Given the description of an element on the screen output the (x, y) to click on. 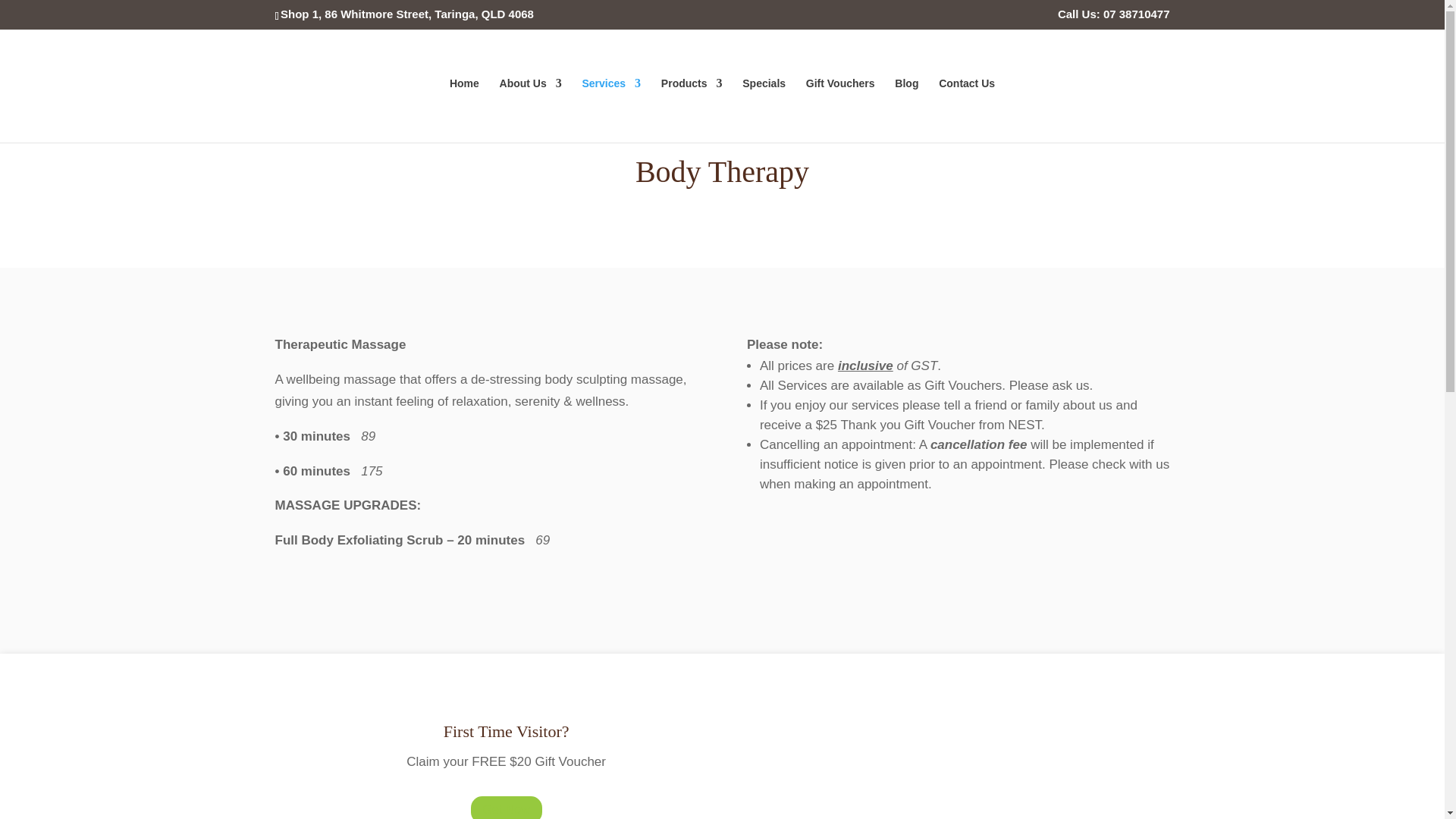
Call Us: 07 38710477 (1114, 17)
Get Now (505, 807)
Services (612, 109)
Products (691, 109)
About Us (530, 109)
Gift Vouchers (840, 109)
